Given the description of an element on the screen output the (x, y) to click on. 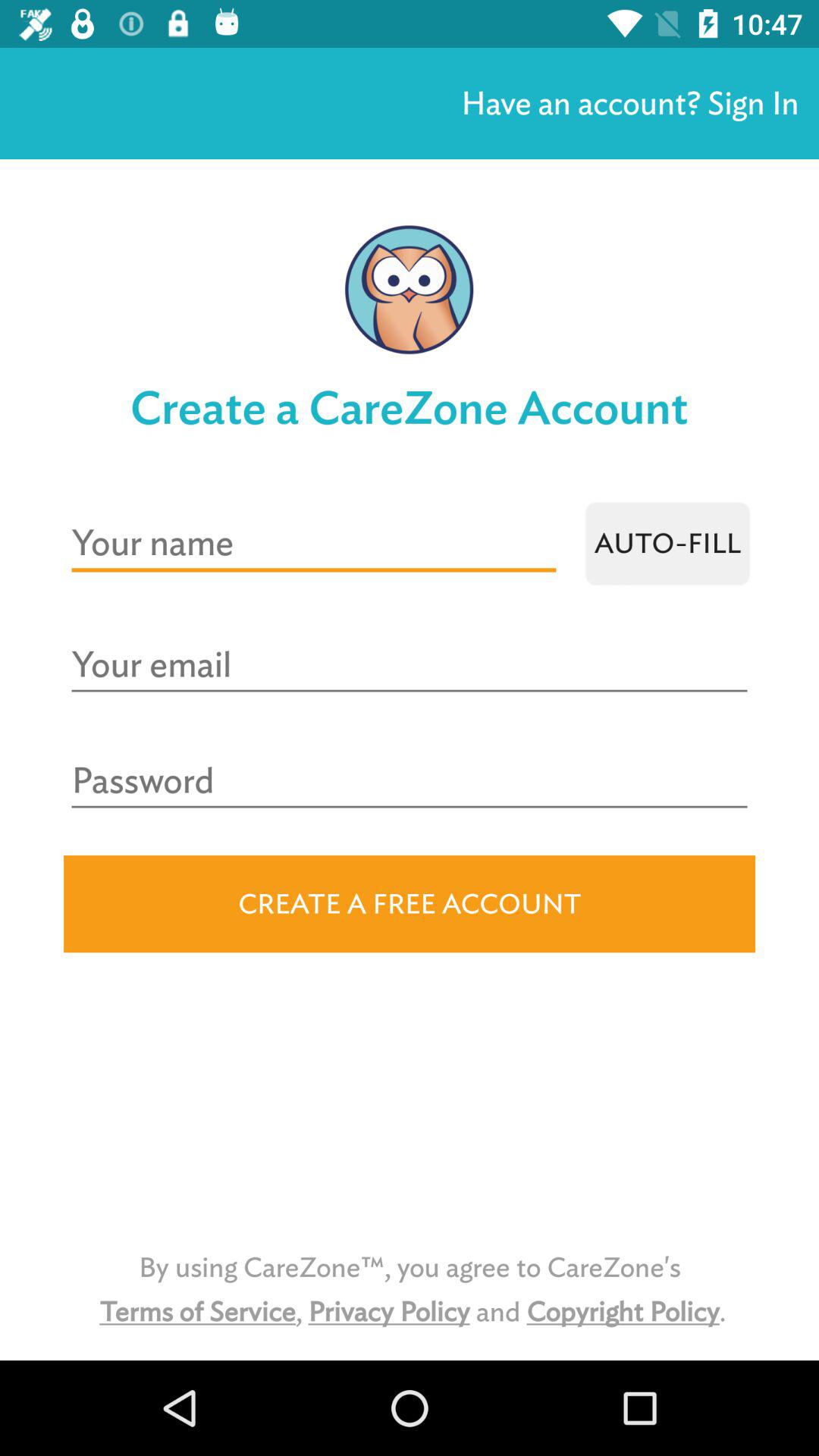
enter password (409, 781)
